Given the description of an element on the screen output the (x, y) to click on. 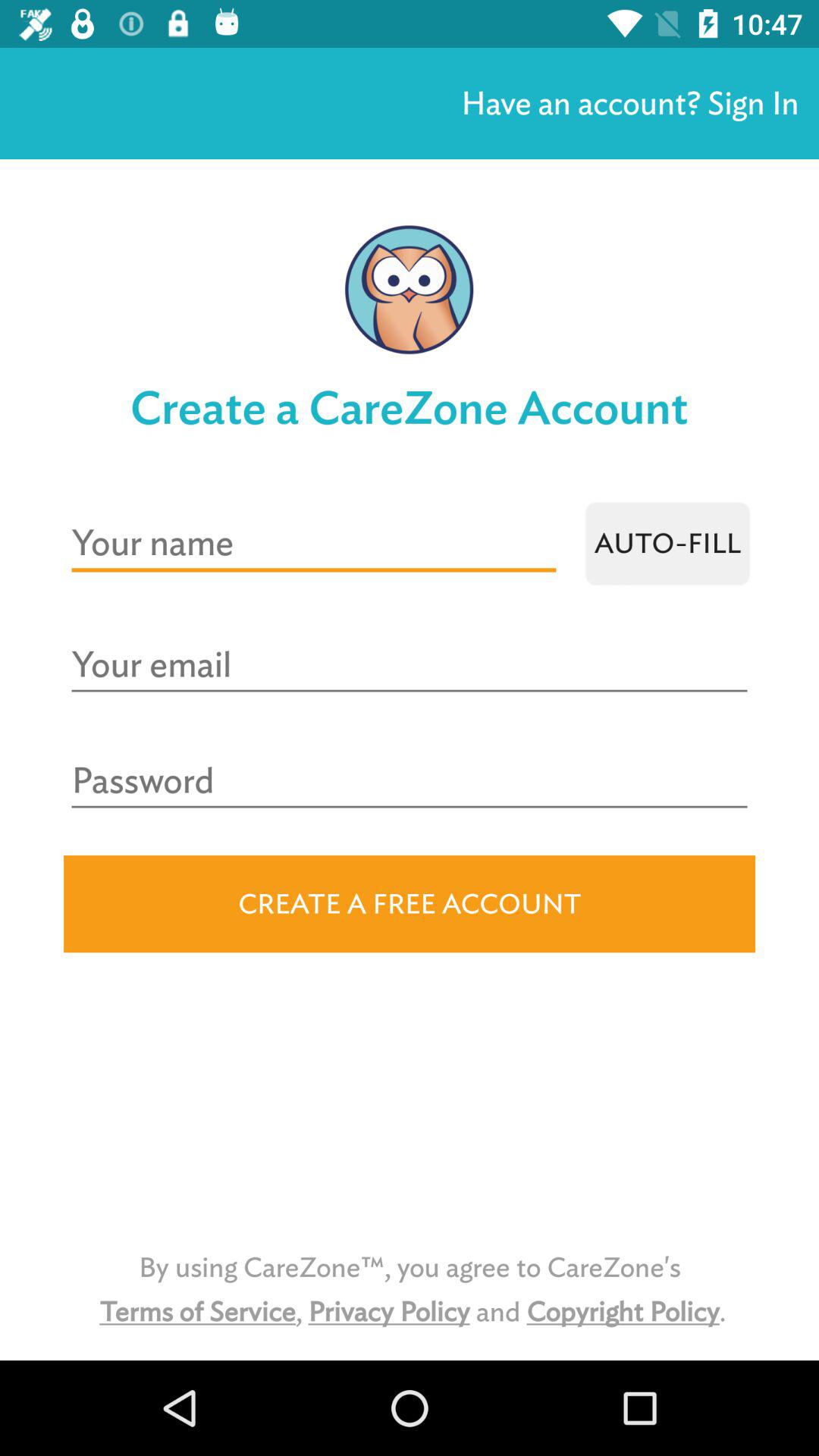
enter password (409, 781)
